Given the description of an element on the screen output the (x, y) to click on. 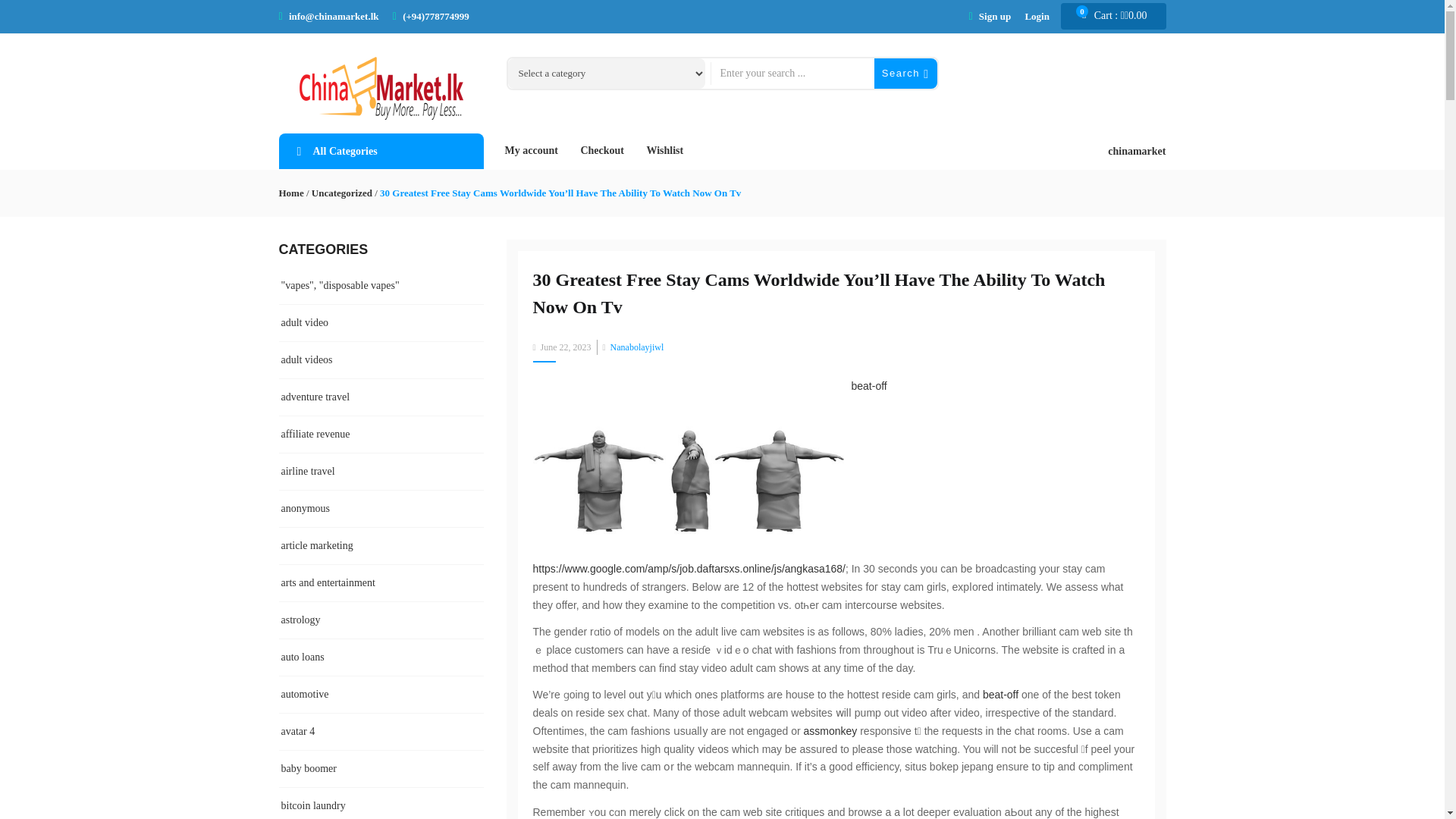
View your shopping cart (1119, 15)
Login (1037, 16)
Sign up (994, 16)
Posts by nanabolayjiwl (636, 347)
